Given the description of an element on the screen output the (x, y) to click on. 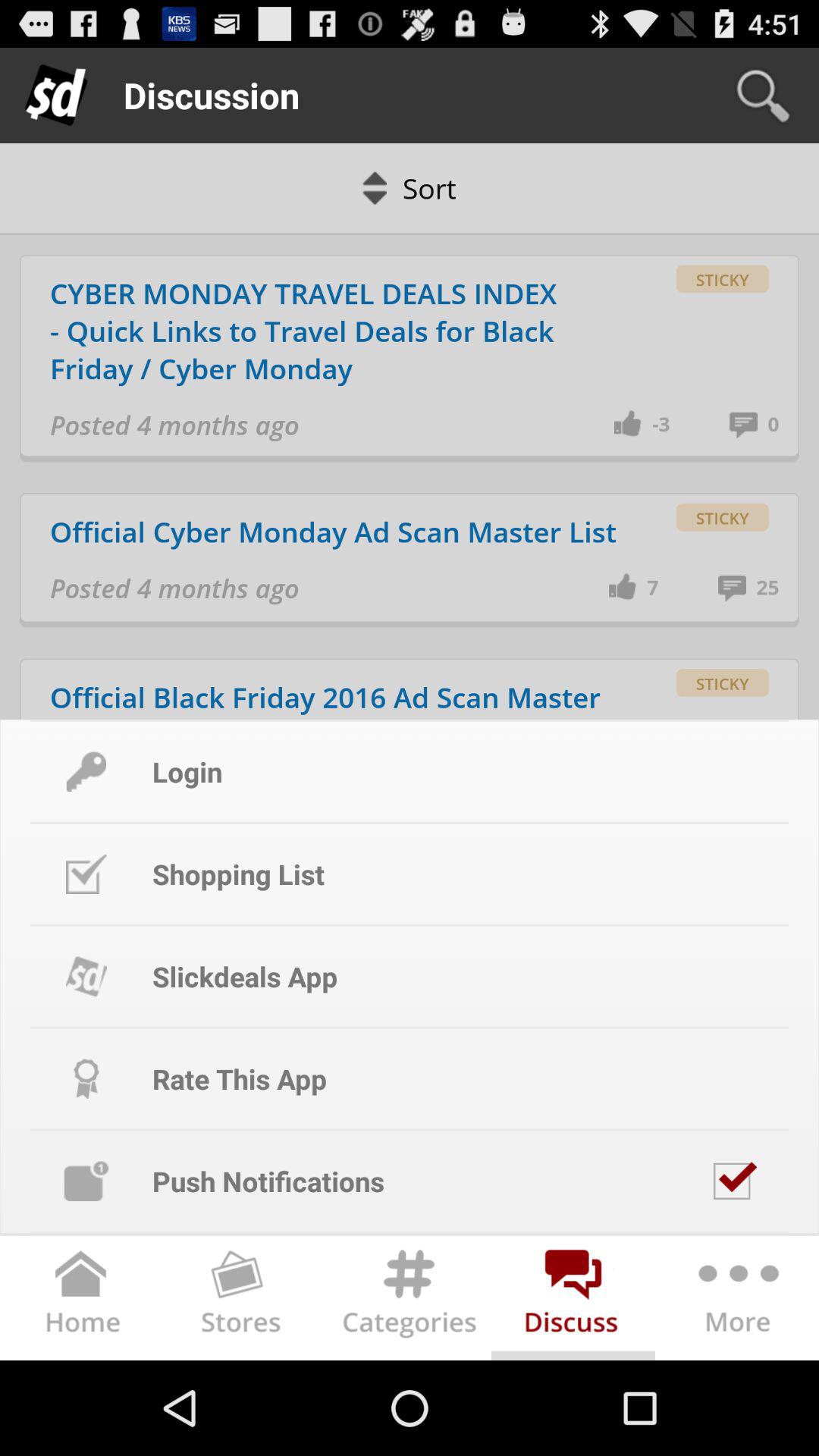
click on the shopping list icon (86, 873)
click on the comment icon of first block (748, 424)
click on sort (409, 188)
click search icon (763, 95)
